Given the description of an element on the screen output the (x, y) to click on. 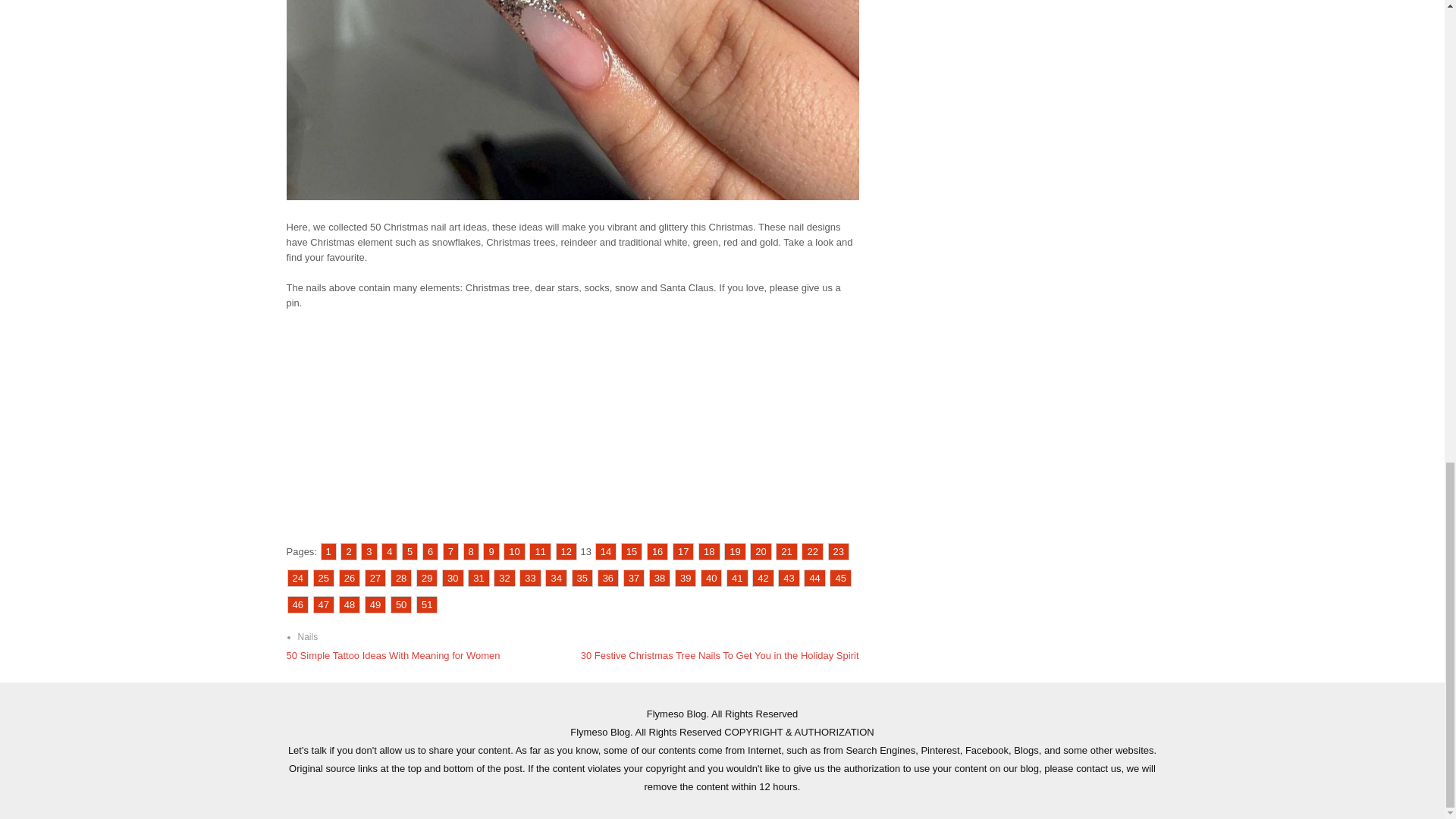
28 (401, 578)
14 (605, 551)
23 (838, 551)
Advertisement (572, 431)
4 (389, 551)
24 (296, 578)
15 (631, 551)
5 (409, 551)
1 (328, 551)
32 (504, 578)
